Given the description of an element on the screen output the (x, y) to click on. 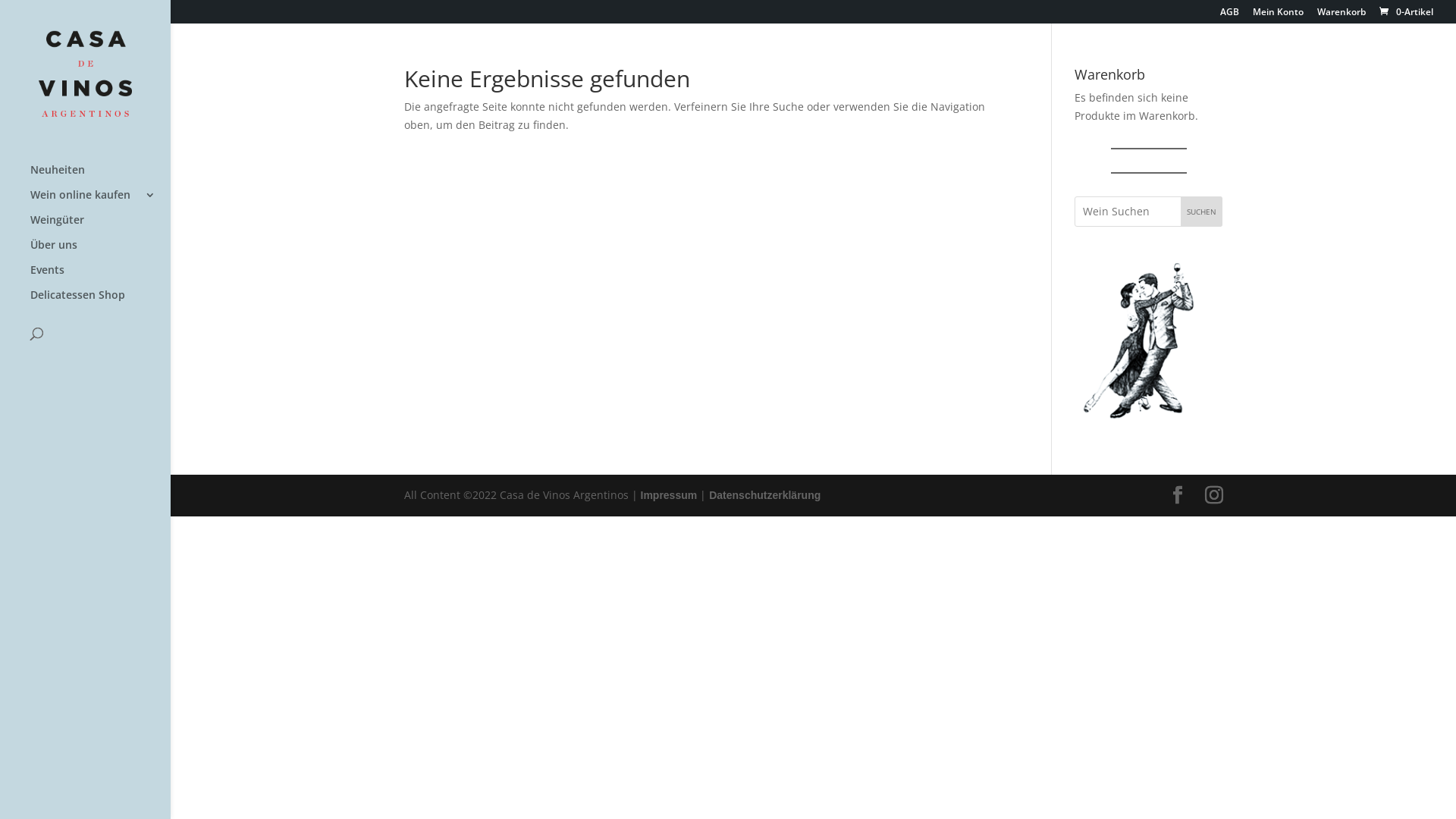
Mein Konto Element type: text (1277, 15)
Neuheiten Element type: text (100, 176)
Wein online kaufen Element type: text (100, 201)
AGB Element type: text (1229, 15)
Delicatessen Shop Element type: text (100, 301)
0-Artikel Element type: text (1405, 11)
Impressum Element type: text (668, 495)
Warenkorb Element type: text (1341, 15)
SUCHEN Element type: text (1201, 211)
Events Element type: text (100, 276)
